Given the description of an element on the screen output the (x, y) to click on. 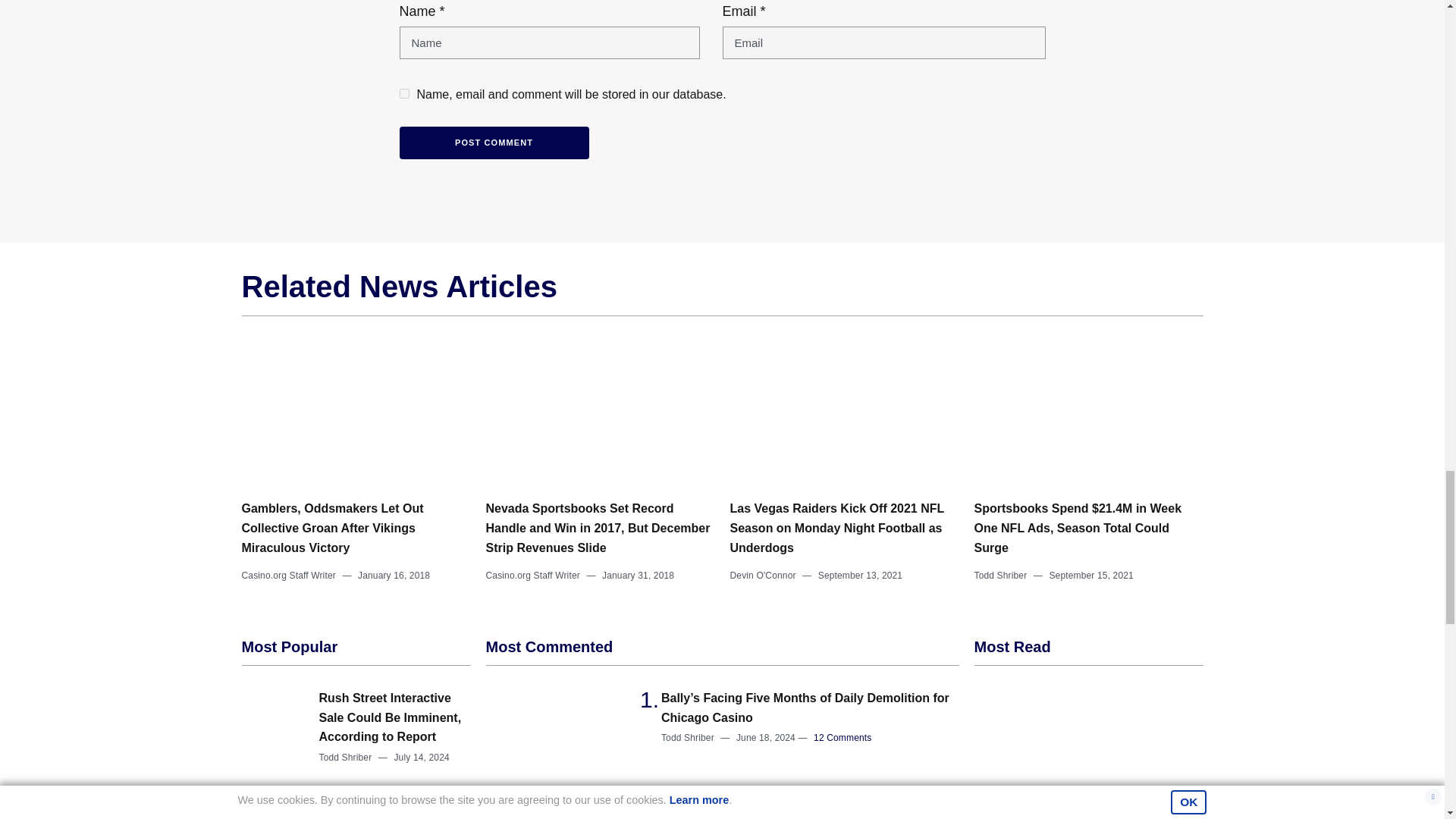
Post Comment (493, 142)
yes (403, 93)
